Given the description of an element on the screen output the (x, y) to click on. 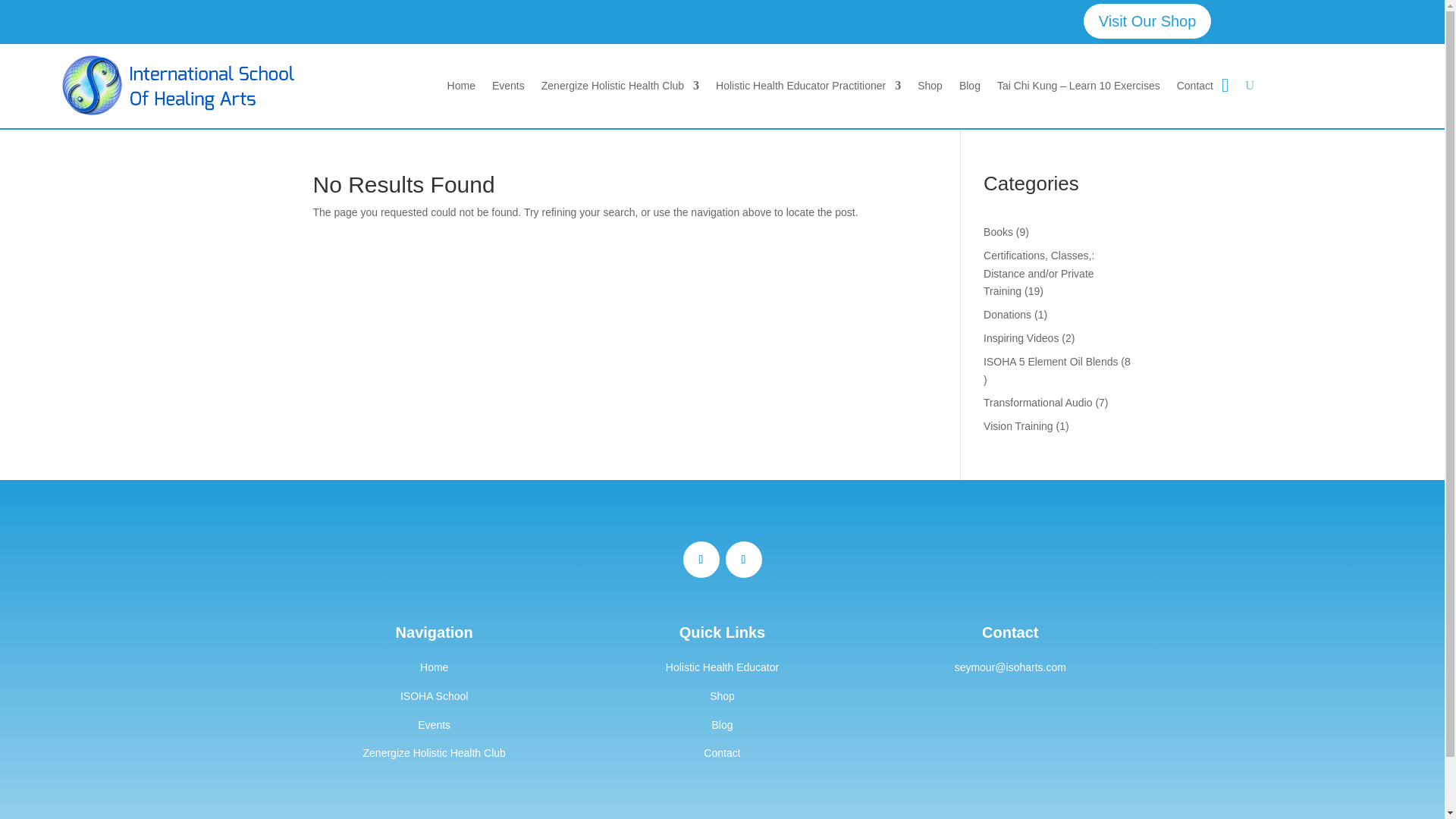
Events (433, 725)
Home (434, 666)
Visit Our Shop (1147, 21)
Transformational Audio (1038, 402)
Holistic Health Educator (721, 666)
Zenergize Holistic Health Club (433, 752)
Vision Training (1018, 426)
Follow on Instagram (743, 559)
ISOHA 5 Element Oil Blends (1051, 361)
Shop (722, 695)
Holistic Health Educator Practitioner (808, 85)
Follow on Facebook (700, 559)
Zenergize Holistic Health Club (619, 85)
Blog (721, 725)
Donations (1007, 314)
